Given the description of an element on the screen output the (x, y) to click on. 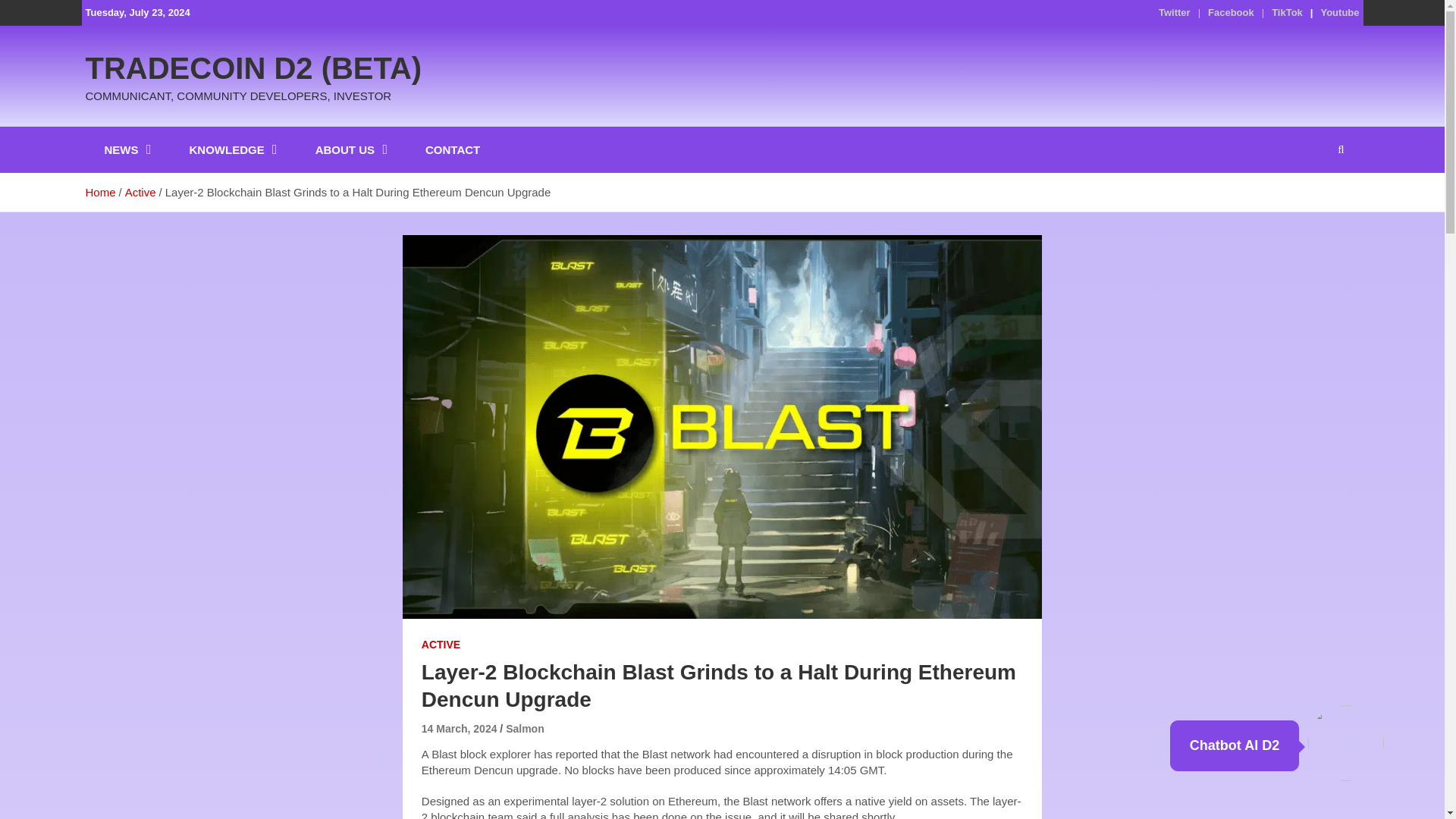
Youtube (1339, 12)
Facebook (1230, 12)
14 March, 2024 (459, 728)
ACTIVE (441, 645)
NEWS (127, 149)
CONTACT (452, 149)
Active (140, 192)
Salmon (524, 728)
Home (99, 192)
Twitter (1174, 12)
TikTok (1287, 12)
ABOUT US (351, 149)
KNOWLEDGE (233, 149)
